Given the description of an element on the screen output the (x, y) to click on. 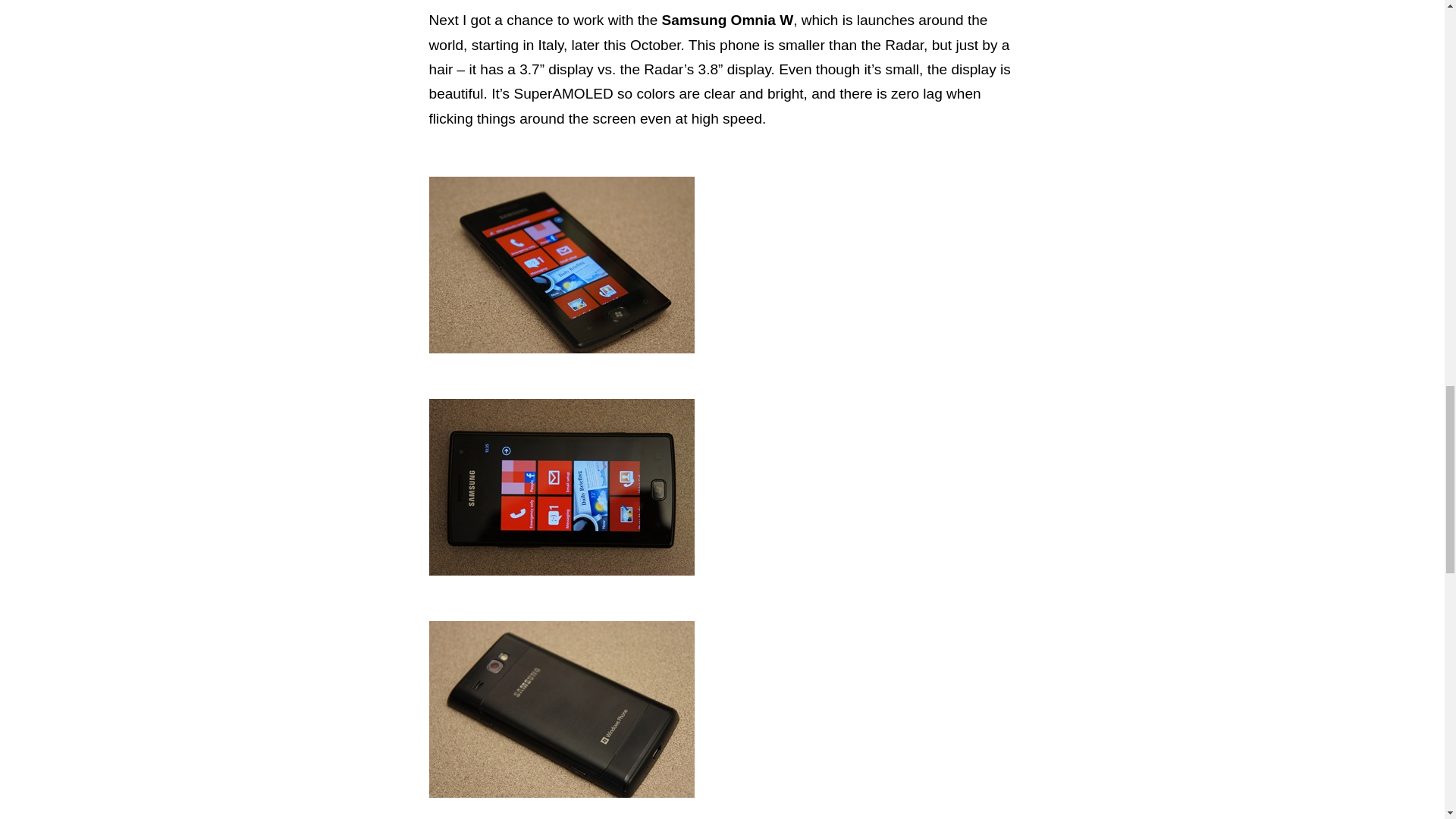
DSC01004 (561, 486)
DSC01003 (561, 264)
DSC01005 (561, 708)
